Given the description of an element on the screen output the (x, y) to click on. 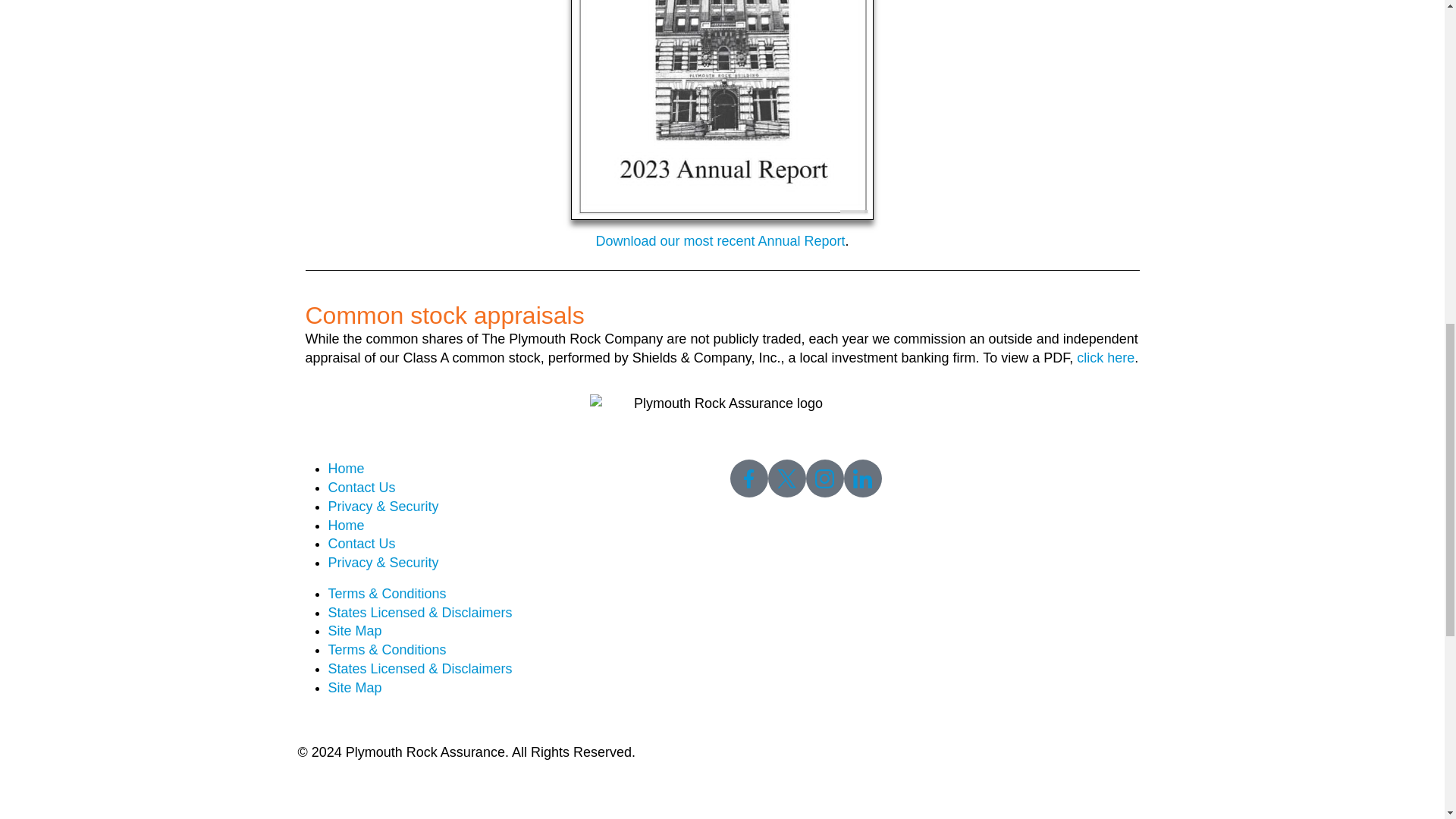
Contact Us (360, 487)
click here (1105, 357)
Site Map (354, 687)
855-993-4470 (772, 720)
Home (345, 525)
Home (345, 468)
Contact Us (360, 543)
Site Map (354, 630)
Download our most recent Annual Report (719, 240)
